Given the description of an element on the screen output the (x, y) to click on. 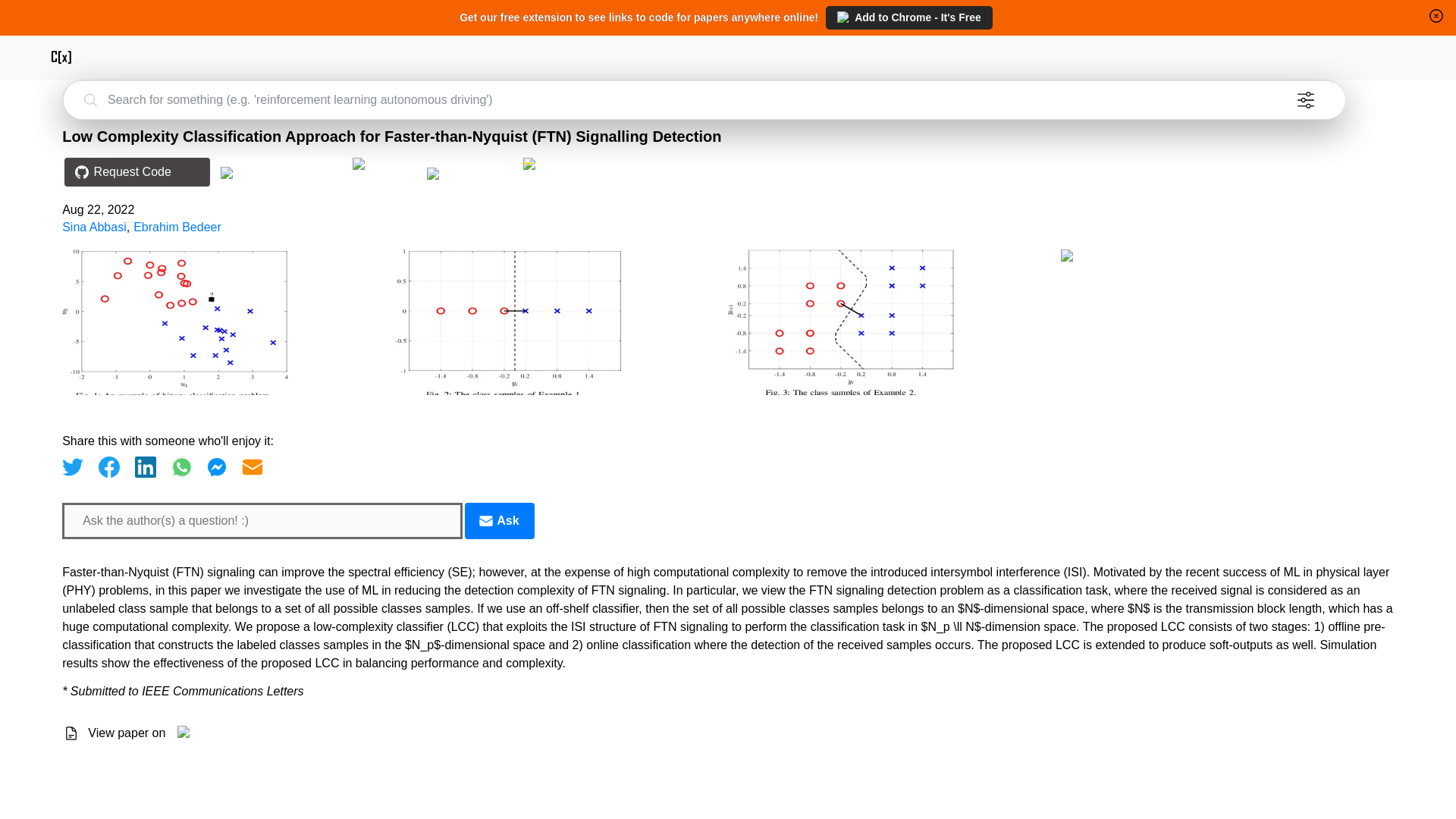
Sina Abbasi (94, 226)
Email Icon Ask (499, 520)
Add to Chrome - It's Free (908, 17)
View code for similar papers (280, 173)
Ebrahim Bedeer (177, 226)
Request Code (132, 173)
Email Icon (486, 520)
Ask any Qs from the author (499, 520)
Share via Email (252, 466)
Contribute your code for this paper to the community (384, 164)
